Given the description of an element on the screen output the (x, y) to click on. 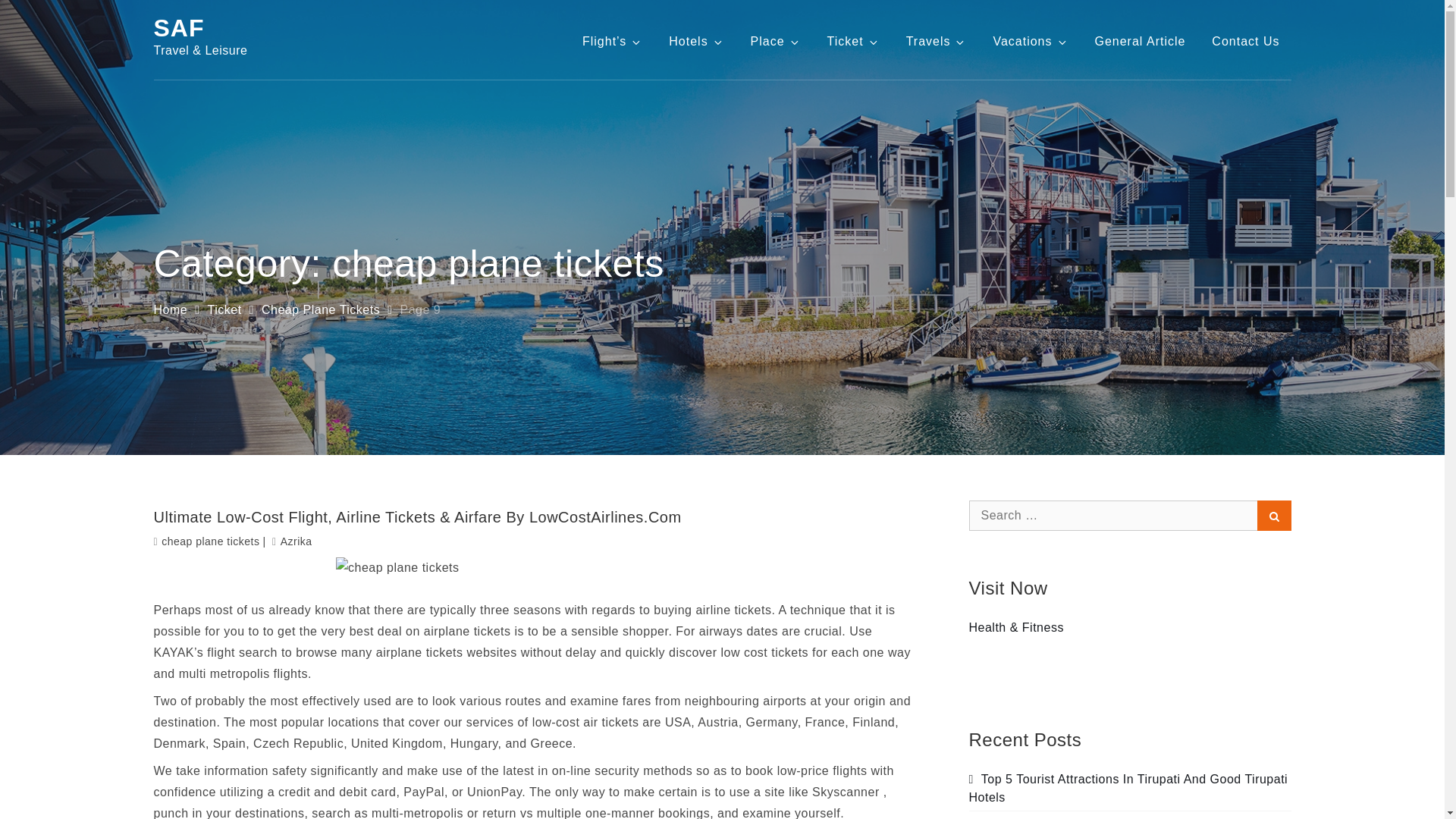
Cheap Plane Tickets (321, 309)
Travels (936, 41)
Vacations (1029, 41)
Contact Us (1244, 41)
General Article (1139, 41)
Ticket (853, 41)
Place (775, 41)
Home (169, 309)
Ticket (224, 309)
SAF (177, 27)
Hotels (696, 41)
